Given the description of an element on the screen output the (x, y) to click on. 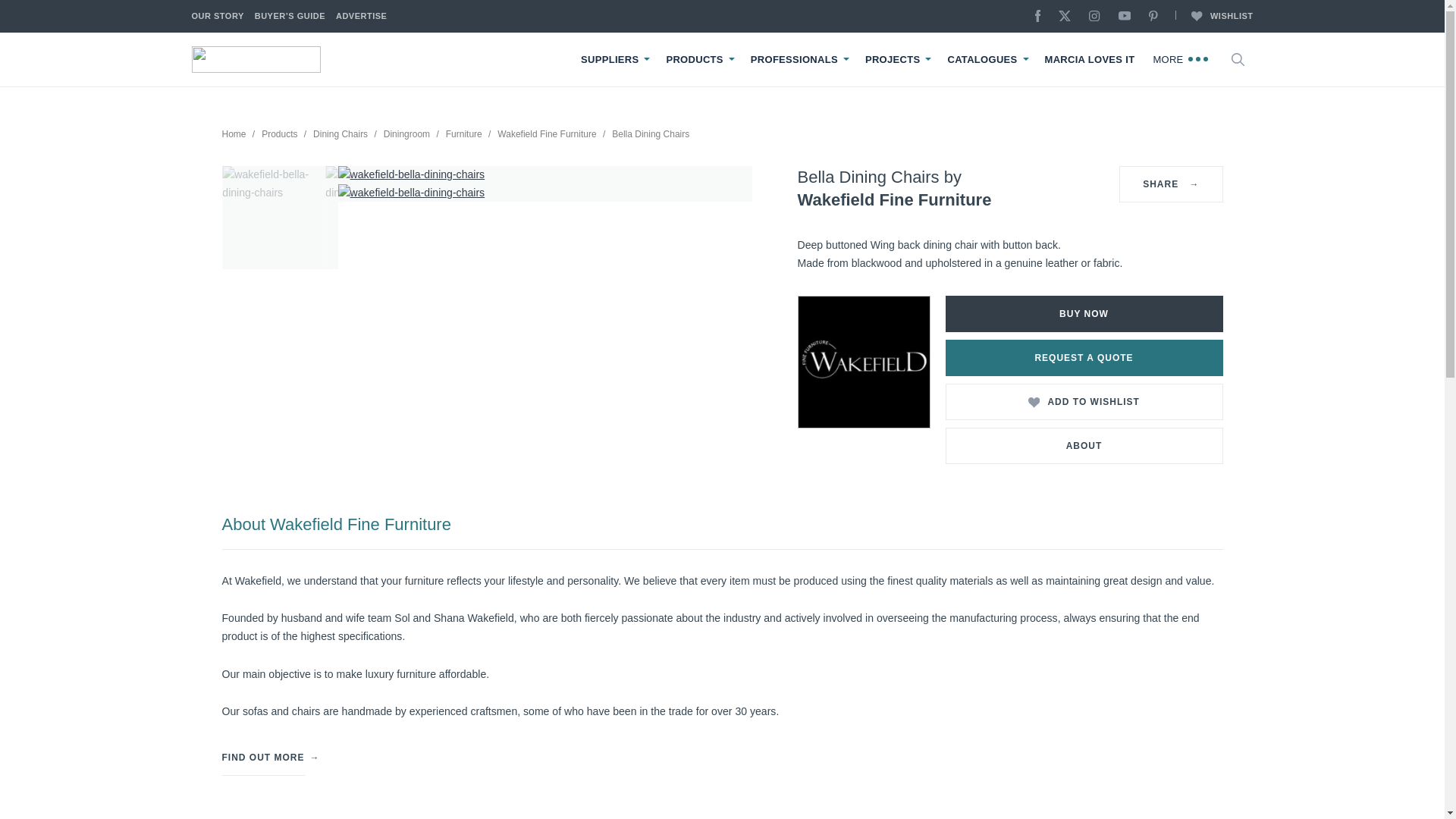
SUPPLIERS (609, 60)
Logo (255, 58)
WISHLIST (1213, 16)
OUR STORY (216, 16)
ADVERTISE (361, 16)
